Given the description of an element on the screen output the (x, y) to click on. 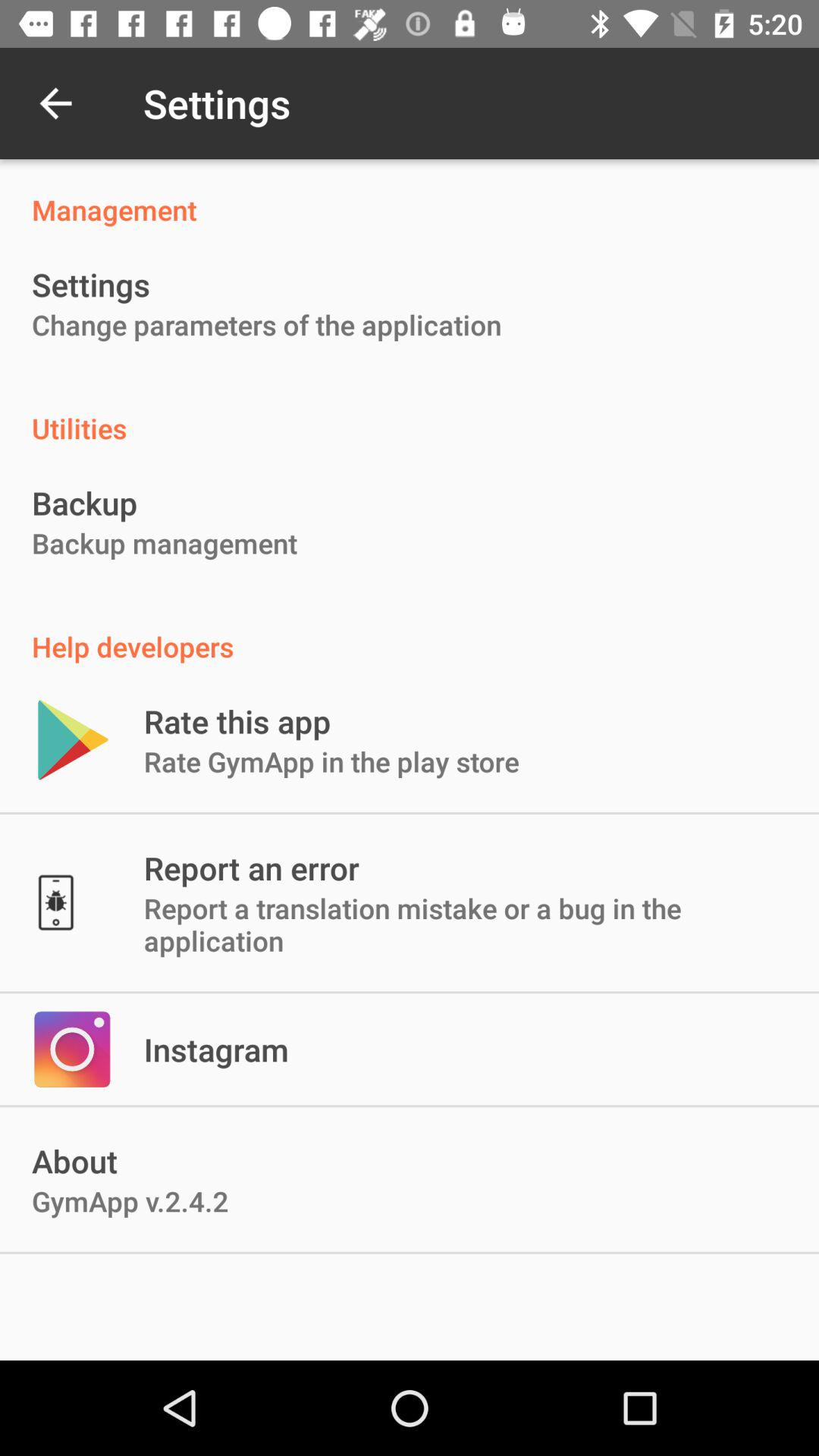
select the utilities (409, 412)
